Given the description of an element on the screen output the (x, y) to click on. 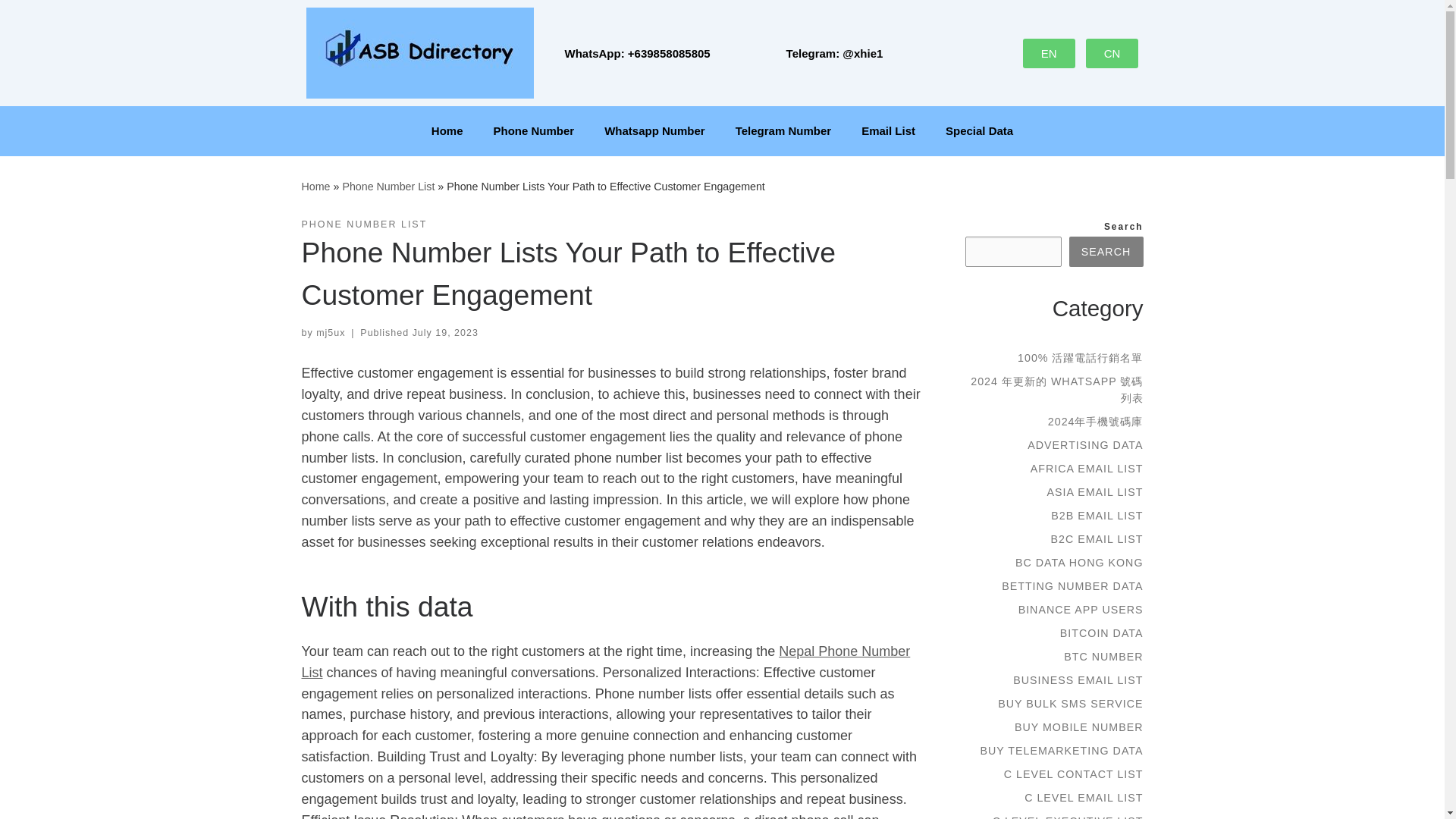
Special Data (978, 130)
PHONE NUMBER LIST (364, 224)
Phone Number List (387, 186)
EN (1049, 52)
ASB Directory (315, 186)
July 19, 2023 (445, 332)
Home (315, 186)
11:22 am (445, 332)
CN (1112, 52)
Nepal Phone Number List (606, 661)
mj5ux (330, 332)
Phone Number (533, 130)
Home (447, 130)
Phone Number List (387, 186)
Whatsapp Number (654, 130)
